Given the description of an element on the screen output the (x, y) to click on. 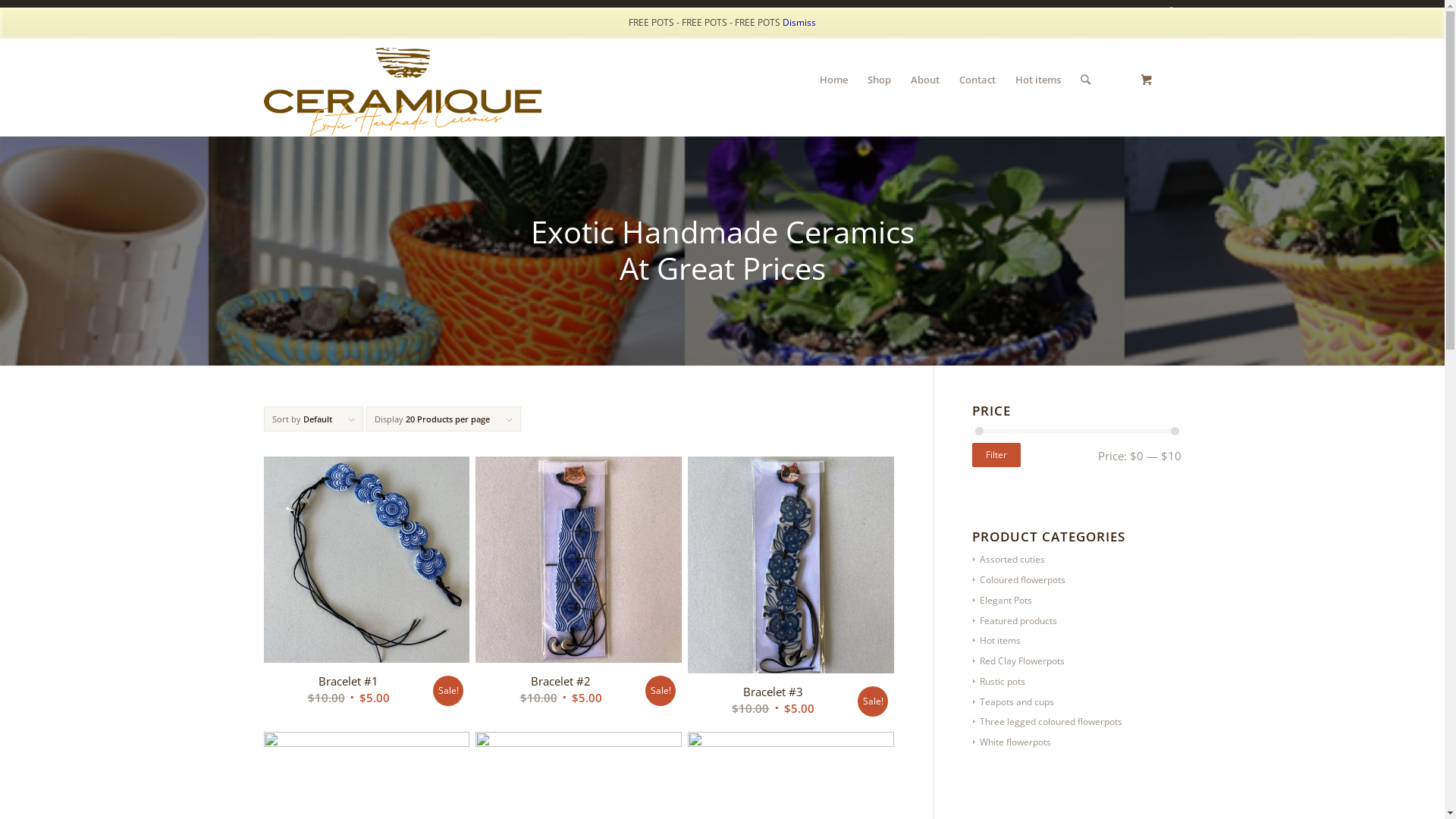
Contact Element type: text (977, 79)
Three legged coloured flowerpots Element type: text (1047, 721)
Coloured flowerpots Element type: text (1018, 579)
Shop Element type: text (991, 10)
Assorted cuties Element type: text (1008, 558)
About Element type: text (924, 79)
Shop Element type: text (878, 79)
Hot items Element type: text (1037, 79)
Facebook Element type: hover (1169, 11)
Cart Element type: text (1087, 10)
Hot items Element type: text (996, 639)
Red Clay Flowerpots Element type: text (1018, 660)
White flowerpots Element type: text (1011, 741)
Bracelet #2
$10.00 $5.00
Sale! Element type: text (578, 585)
Featured products Element type: text (1014, 620)
Bracelet #3
$10.00 $5.00
Sale! Element type: text (790, 590)
Bracelet #1
$10.00 $5.00
Sale! Element type: text (366, 585)
Checkout Element type: text (1131, 10)
Elegant Pots Element type: text (1002, 599)
Filter Element type: text (996, 454)
Rustic pots Element type: text (998, 680)
Home Element type: text (833, 79)
My Account Element type: text (1040, 10)
Teapots and cups Element type: text (1013, 701)
Dismiss Element type: text (798, 21)
